Given the description of an element on the screen output the (x, y) to click on. 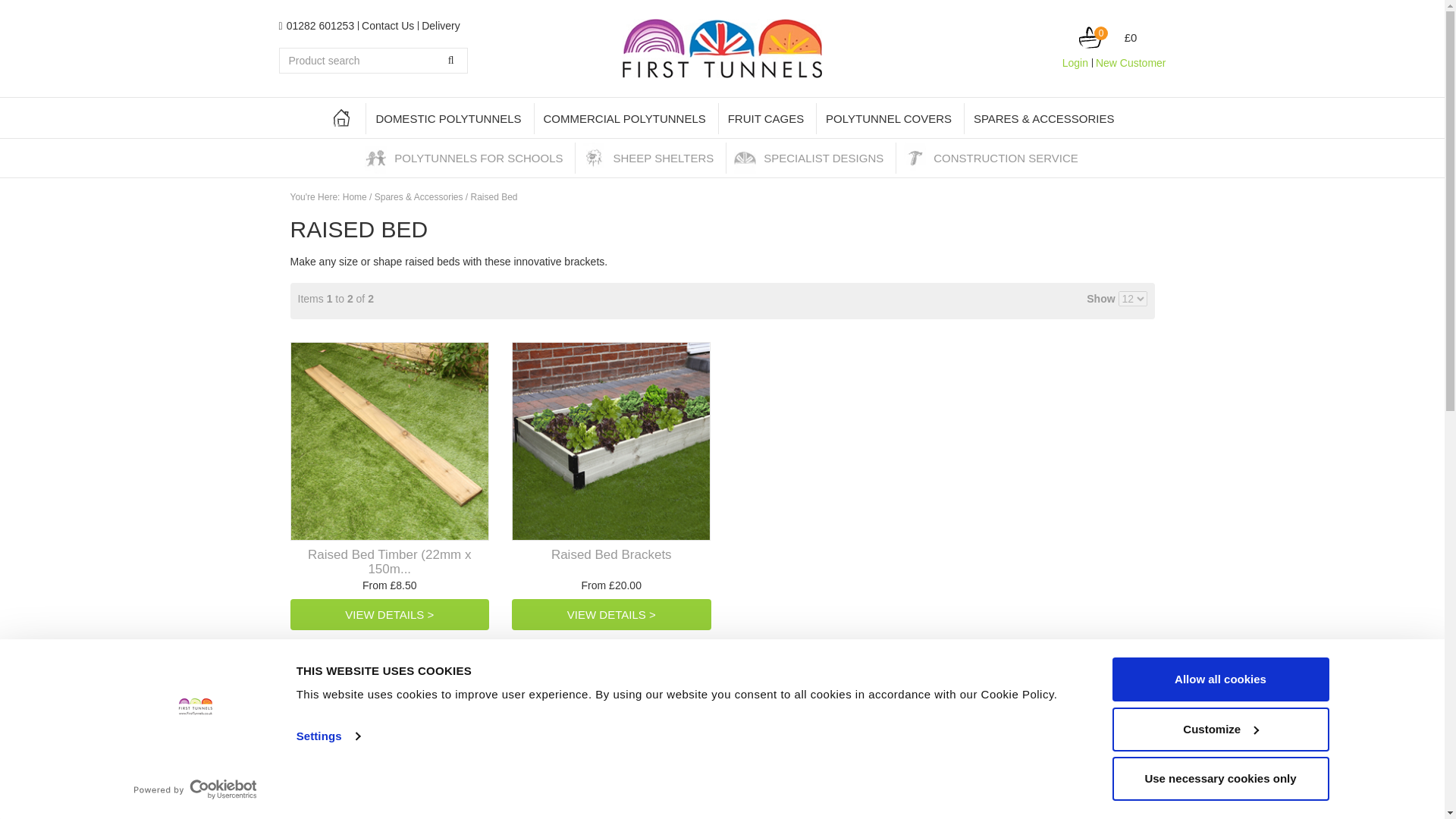
Settings (328, 735)
